Given the description of an element on the screen output the (x, y) to click on. 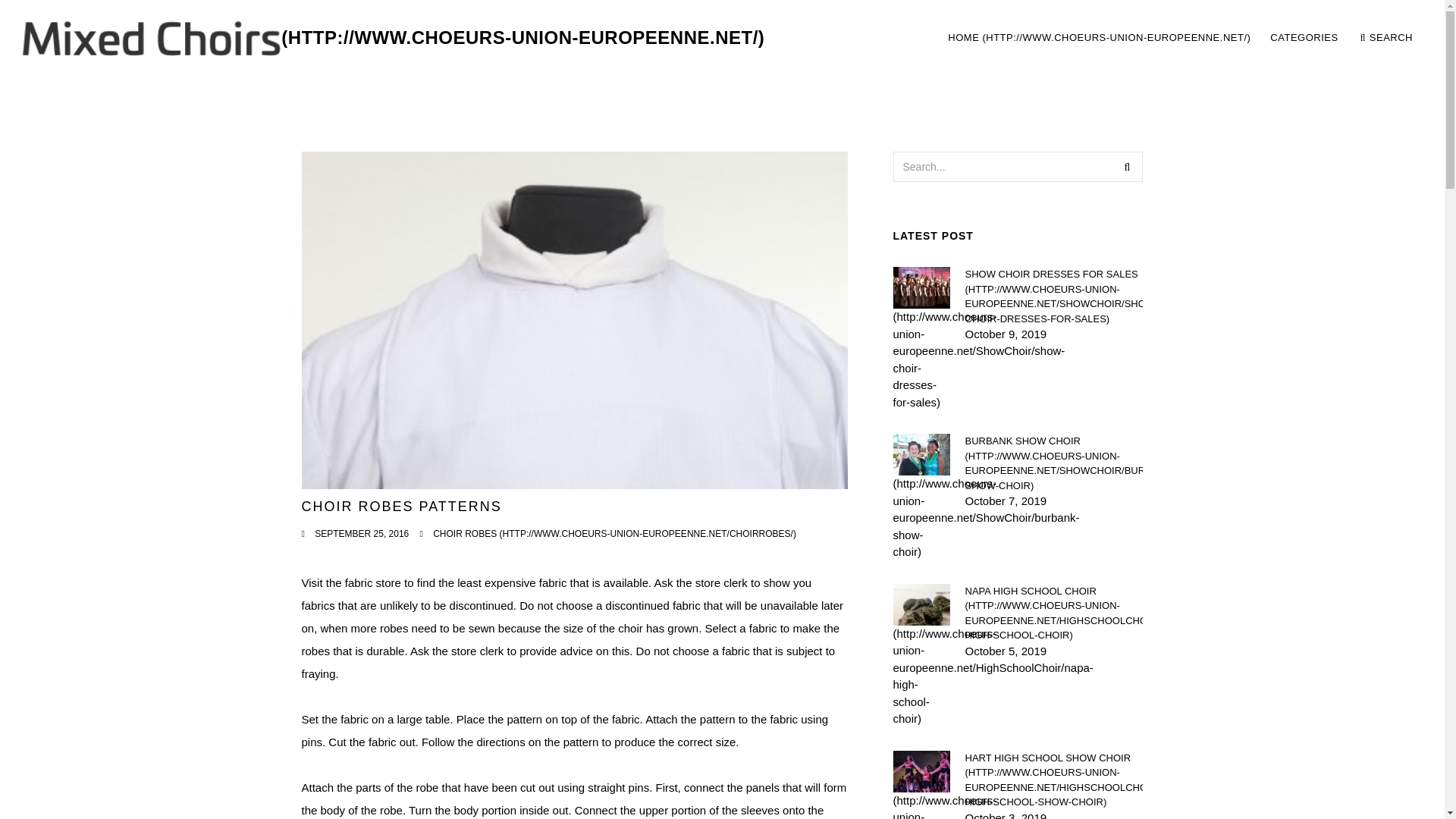
NAPA HIGH SCHOOL CHOIR (1052, 612)
Mixed Choirs (393, 38)
Search (1126, 166)
SEARCH (1179, 38)
HART HIGH SCHOOL SHOW CHOIR (1386, 38)
CHOIR ROBES (1052, 780)
SHOW CHOIR DRESSES FOR SALES (614, 533)
HOME (1052, 295)
CATEGORIES (1099, 38)
BURBANK SHOW CHOIR (1304, 38)
